Given the description of an element on the screen output the (x, y) to click on. 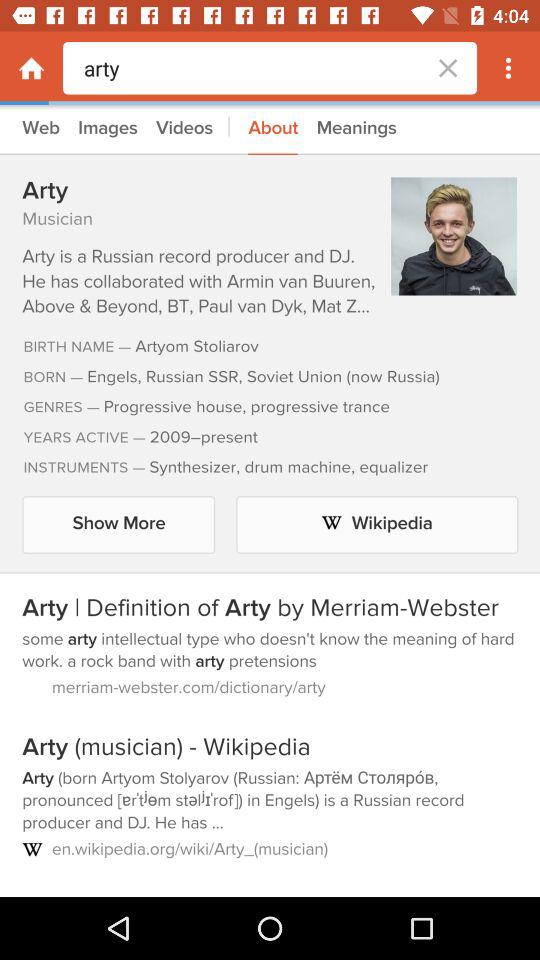
icon button (508, 68)
